Given the description of an element on the screen output the (x, y) to click on. 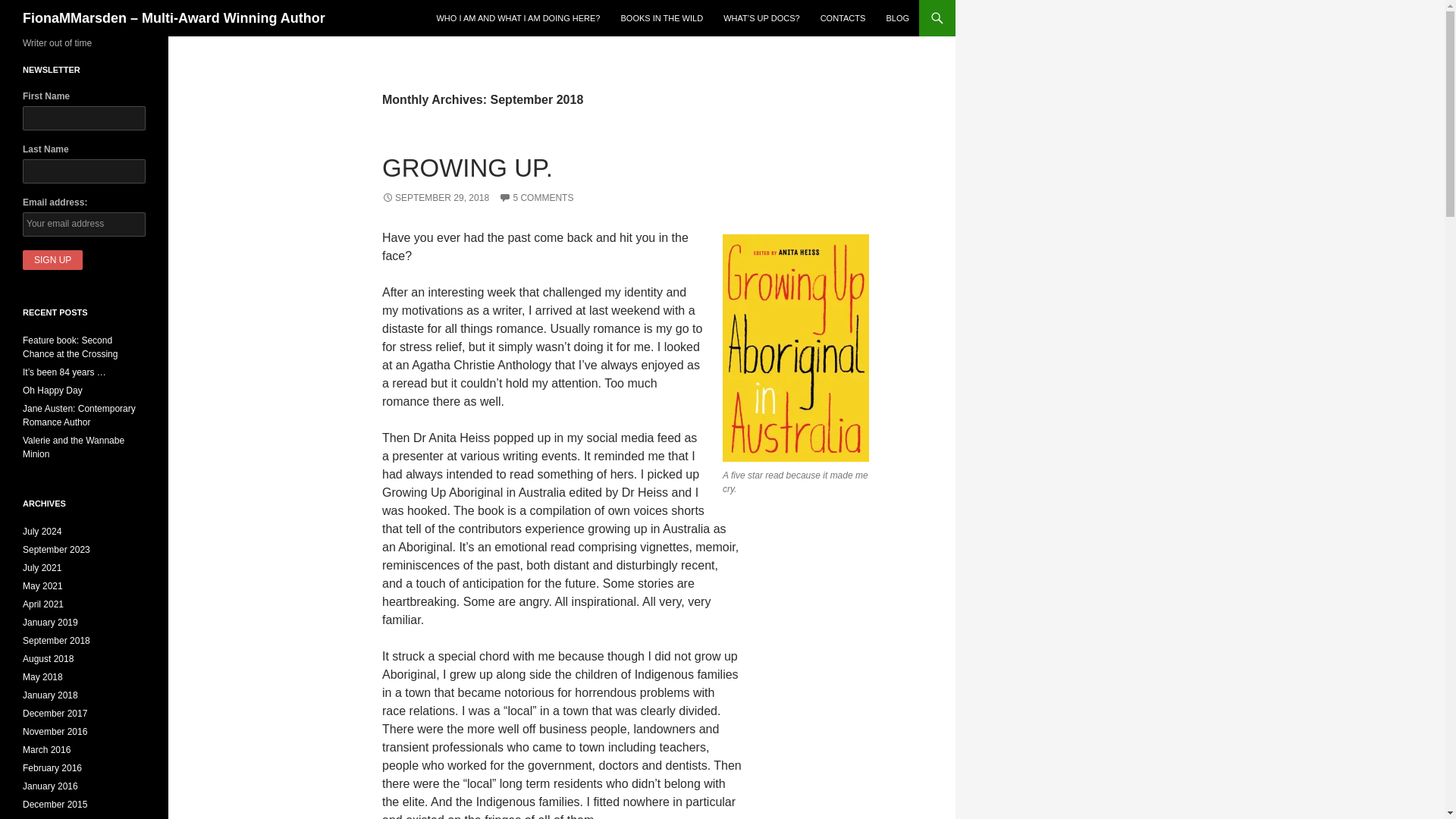
August 2018 (48, 658)
GROWING UP. (467, 167)
Valerie and the Wannabe Minion (73, 446)
5 COMMENTS (536, 197)
BLOG (897, 18)
January 2019 (50, 622)
May 2018 (42, 676)
September 2023 (56, 549)
September 2018 (56, 640)
July 2024 (42, 531)
BOOKS IN THE WILD (661, 18)
July 2021 (42, 567)
Jane Austen: Contemporary Romance Author (79, 415)
January 2016 (50, 786)
Sign up (52, 260)
